Given the description of an element on the screen output the (x, y) to click on. 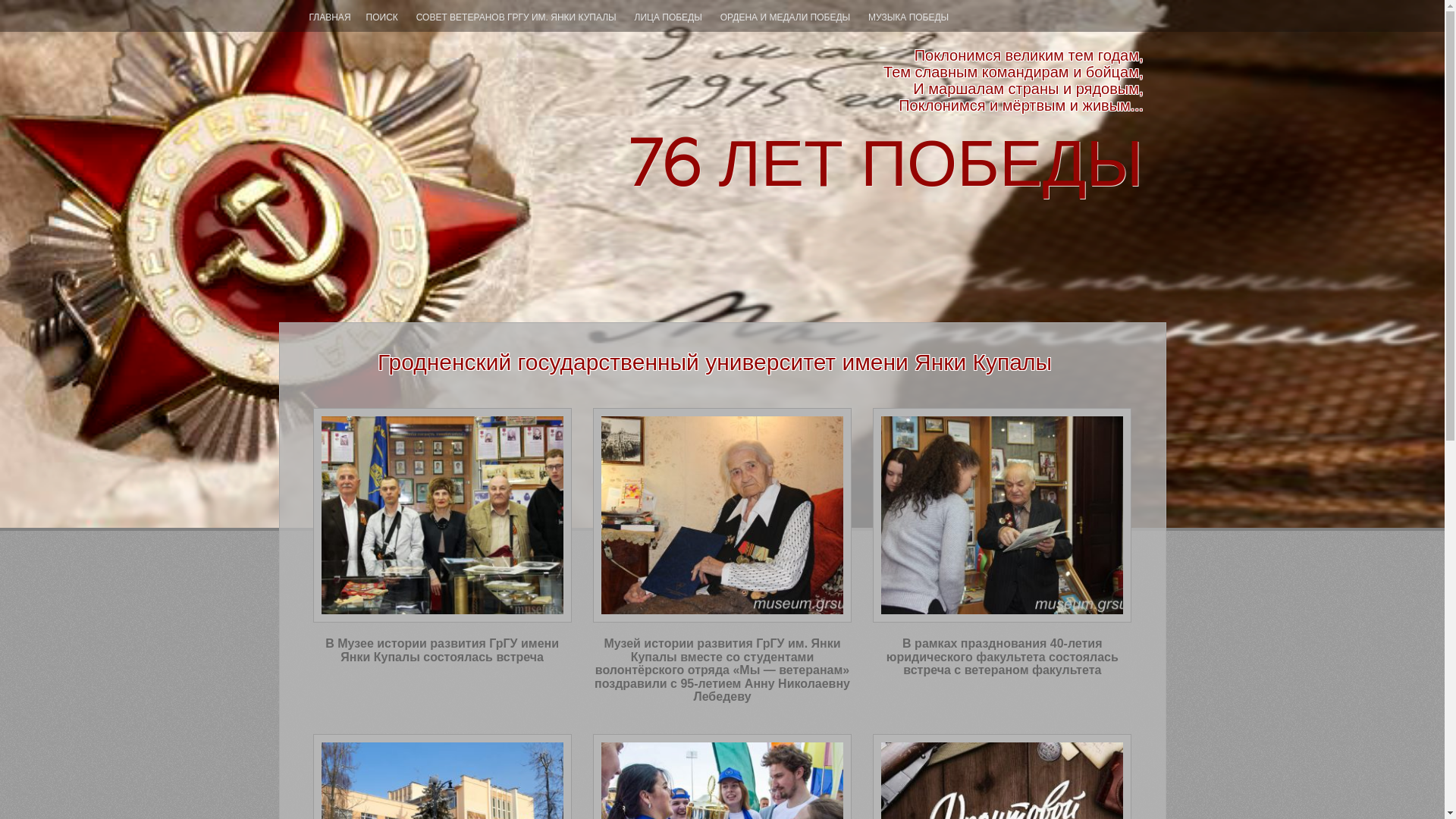
SKIP TO CONTENT Element type: text (776, 296)
